Given the description of an element on the screen output the (x, y) to click on. 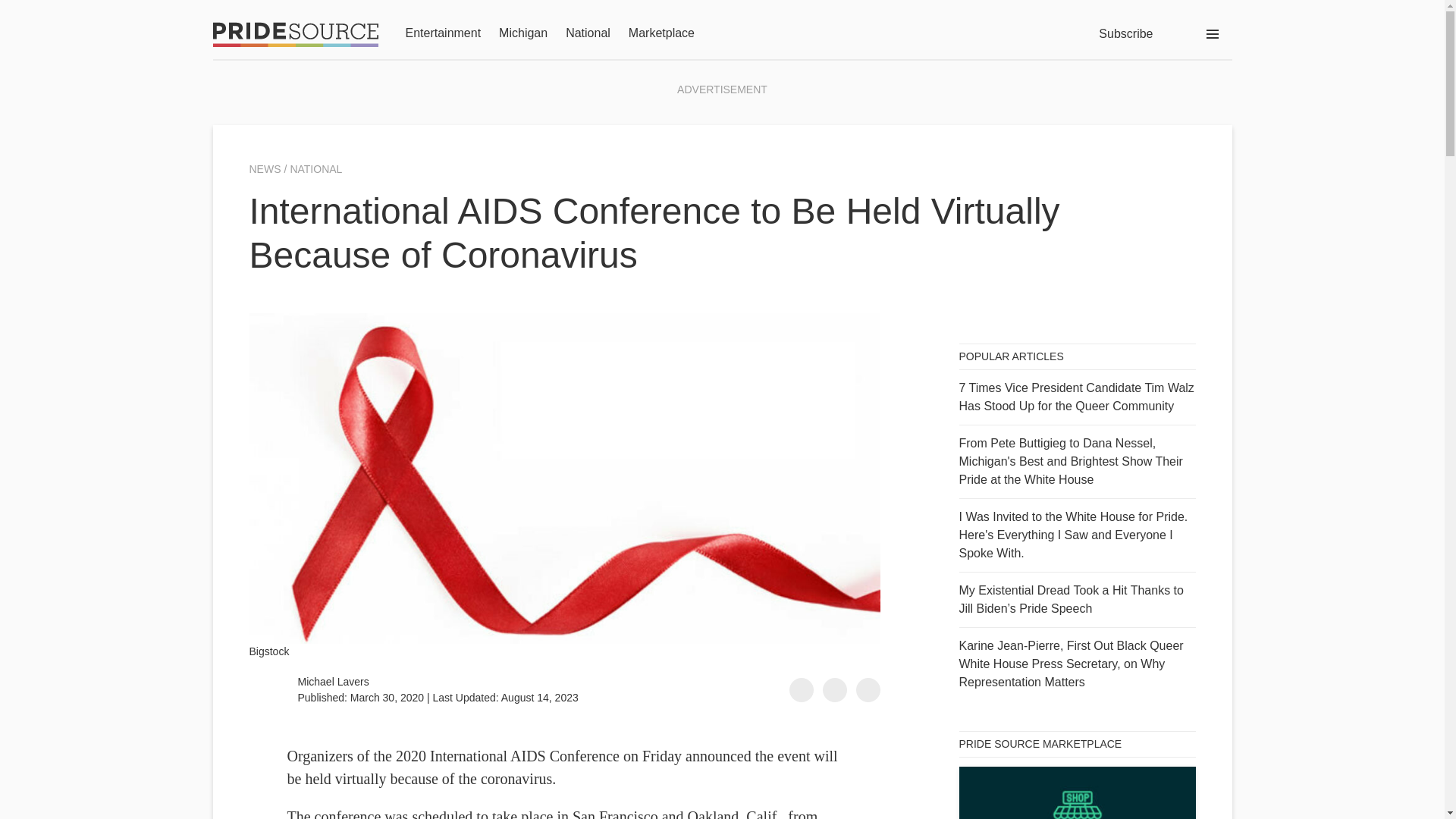
Michigan (523, 34)
Marketplace (661, 34)
Share by Email (867, 689)
Subscribe (1125, 33)
Entertainment (442, 34)
NEWS (265, 169)
National (588, 34)
